Given the description of an element on the screen output the (x, y) to click on. 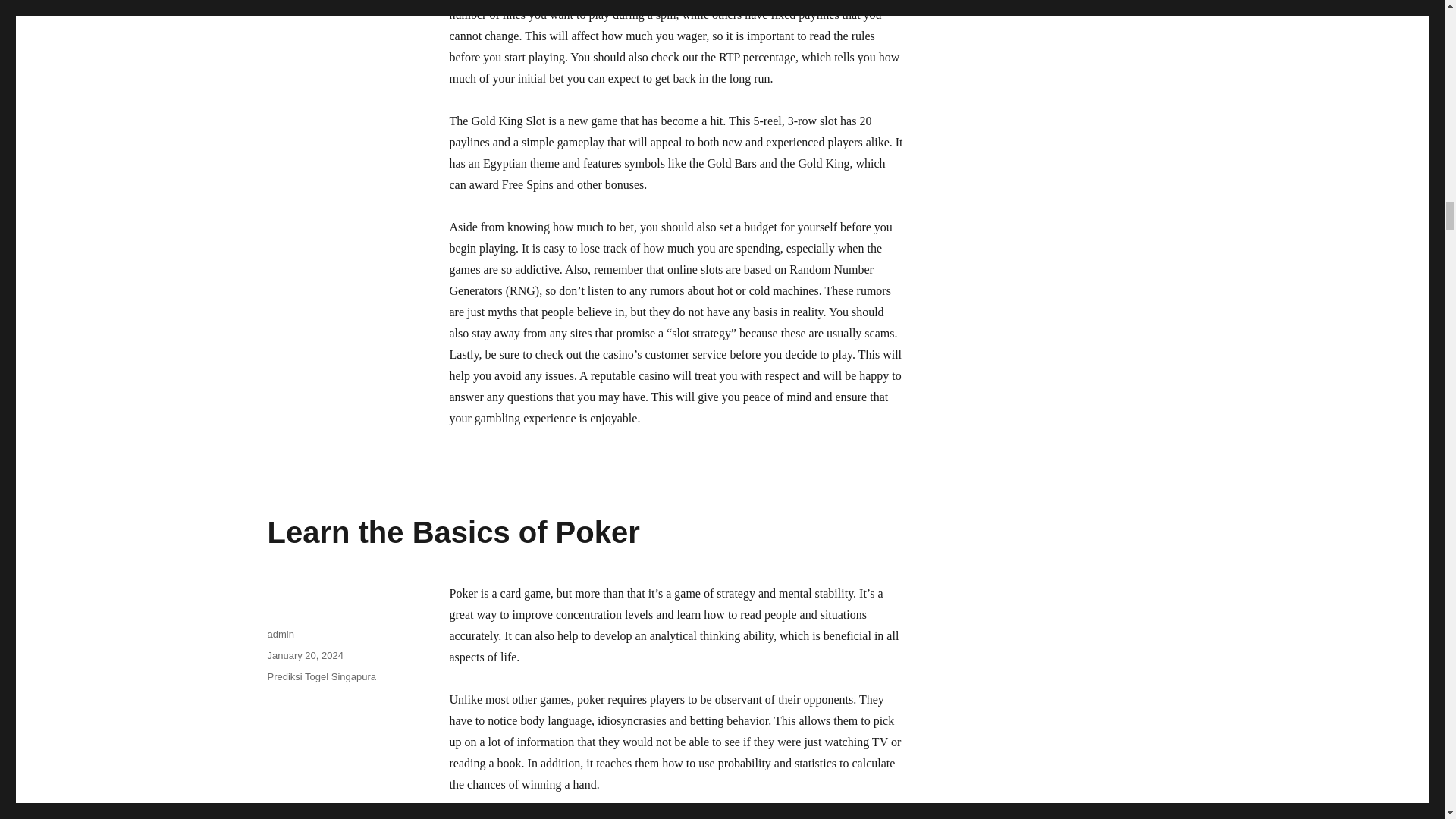
January 20, 2024 (304, 655)
Learn the Basics of Poker (452, 531)
Prediksi Togel Singapura (320, 676)
admin (280, 633)
